Given the description of an element on the screen output the (x, y) to click on. 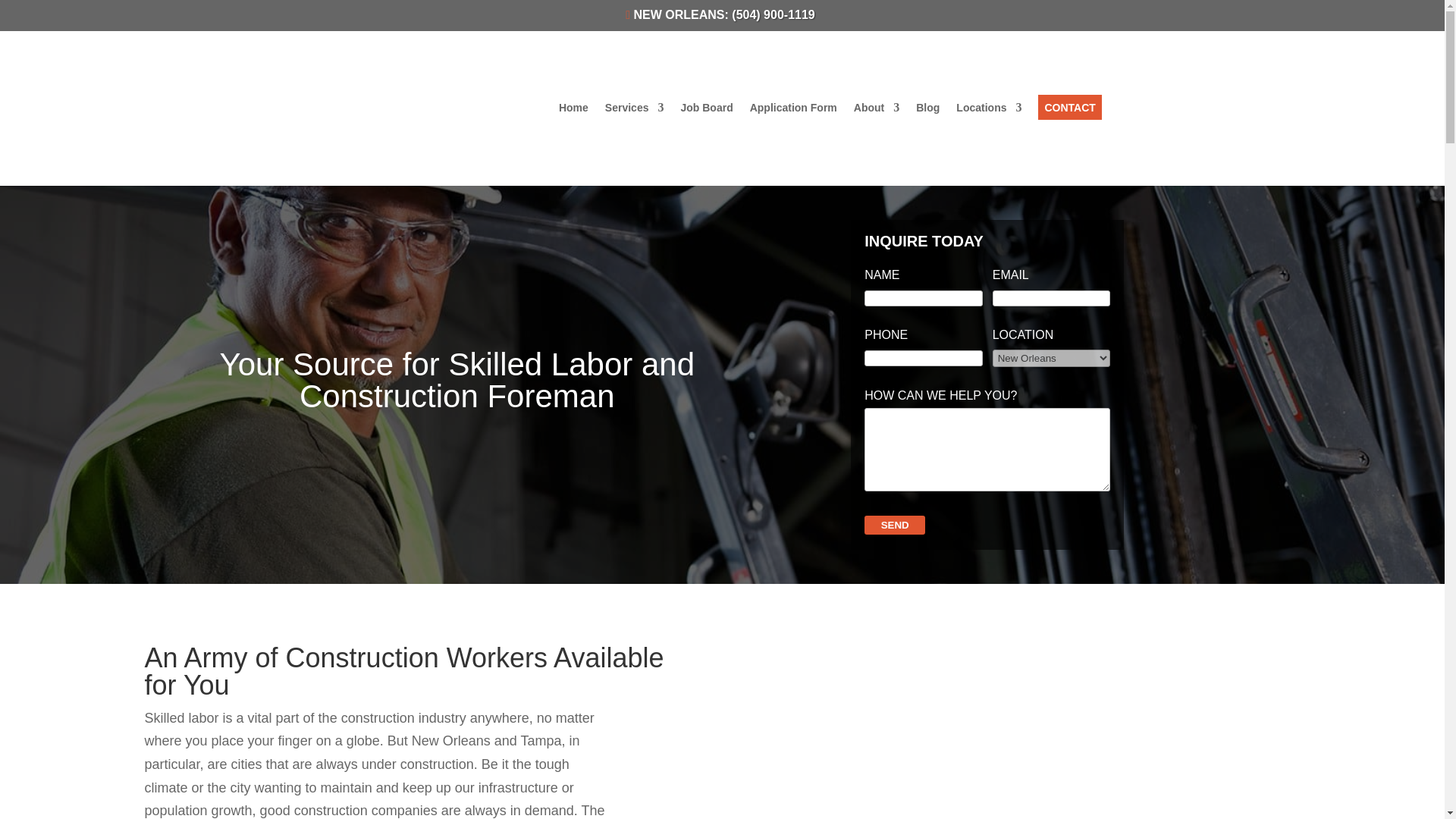
Send (894, 524)
Locations (989, 110)
Application Form (793, 110)
CONTACT (1069, 107)
Blog (927, 110)
Send (894, 524)
Home (573, 110)
Enterprise-Logo (398, 108)
Services (634, 110)
Job Board (705, 110)
